Given the description of an element on the screen output the (x, y) to click on. 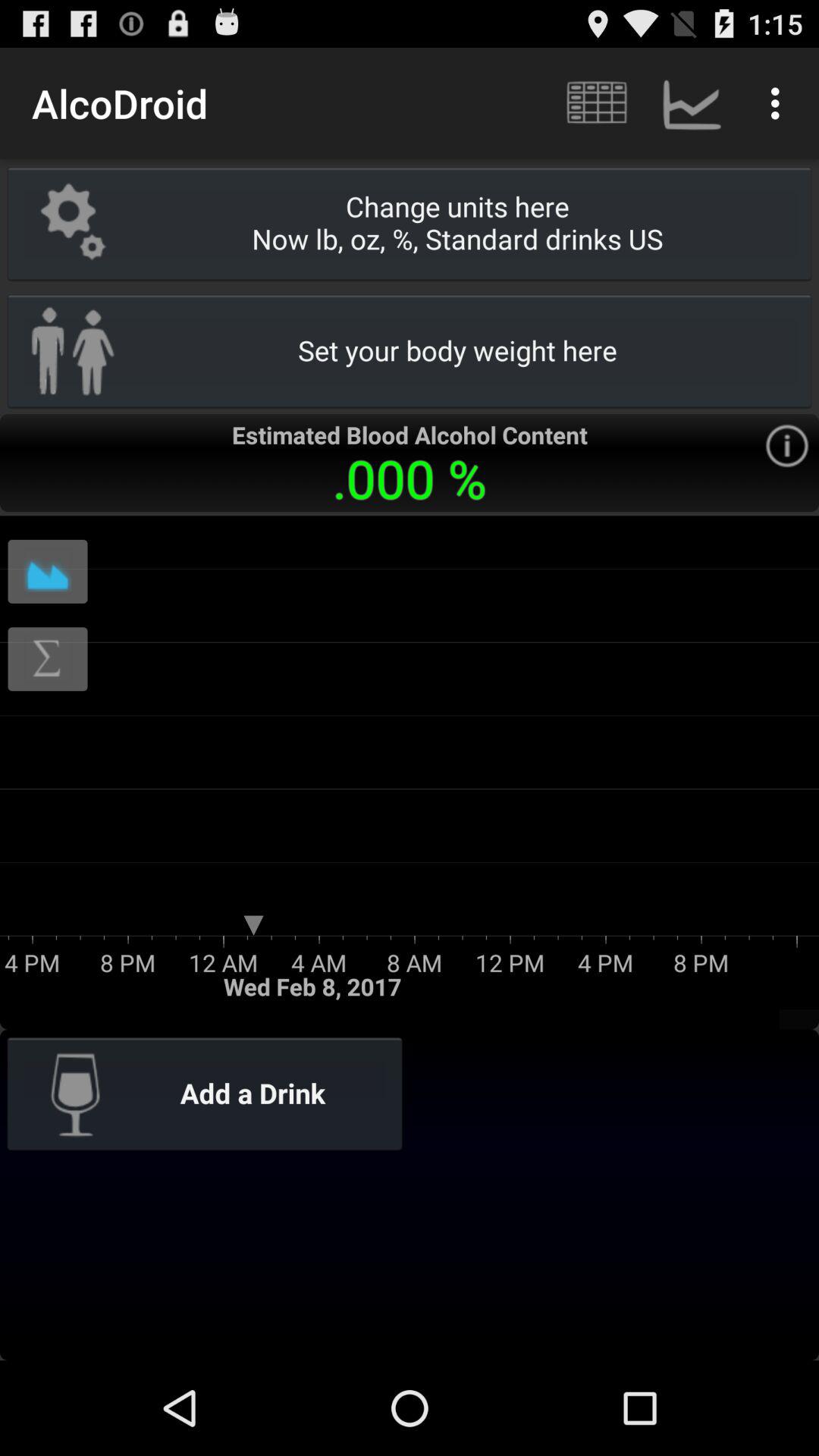
show more information (787, 445)
